Given the description of an element on the screen output the (x, y) to click on. 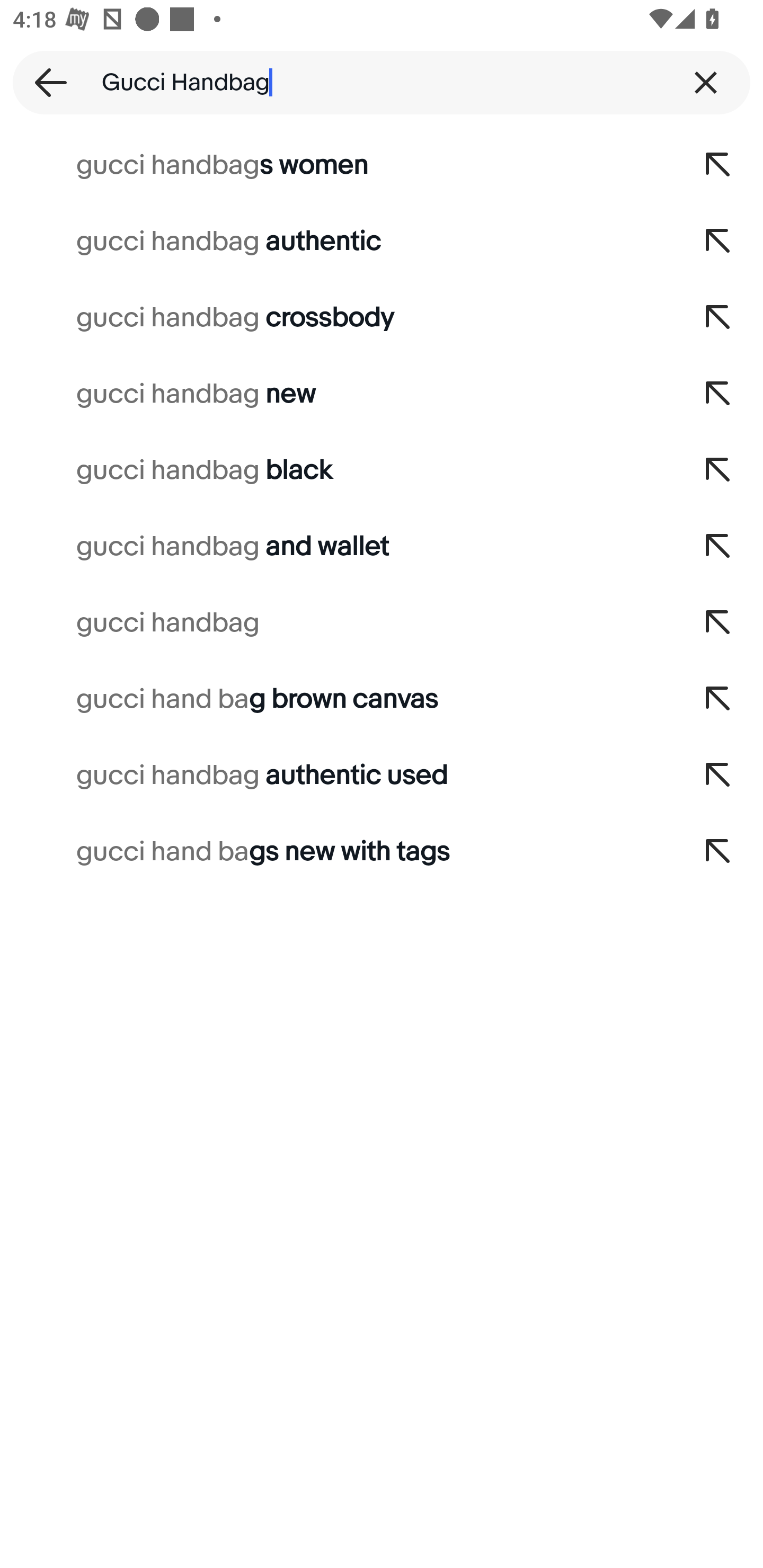
Back (44, 82)
Clear query (705, 82)
Gucci Handbag (381, 82)
gucci handbags women (336, 165)
Add to search query,gucci handbags women (718, 165)
gucci handbag authentic (336, 241)
Add to search query,gucci handbag authentic (718, 241)
gucci handbag crossbody (336, 317)
Add to search query,gucci handbag crossbody (718, 317)
gucci handbag new (336, 393)
Add to search query,gucci handbag new (718, 393)
gucci handbag black (336, 470)
Add to search query,gucci handbag black (718, 470)
gucci handbag and wallet (336, 546)
Add to search query,gucci handbag and wallet (718, 546)
gucci handbag (336, 622)
Add to search query,gucci handbag (718, 622)
gucci hand bag brown canvas (336, 698)
Add to search query,gucci hand bag brown canvas (718, 698)
gucci handbag authentic used (336, 774)
Add to search query,gucci handbag authentic used (718, 774)
gucci hand bags new with tags (336, 851)
Add to search query,gucci hand bags new with tags (718, 851)
